Given the description of an element on the screen output the (x, y) to click on. 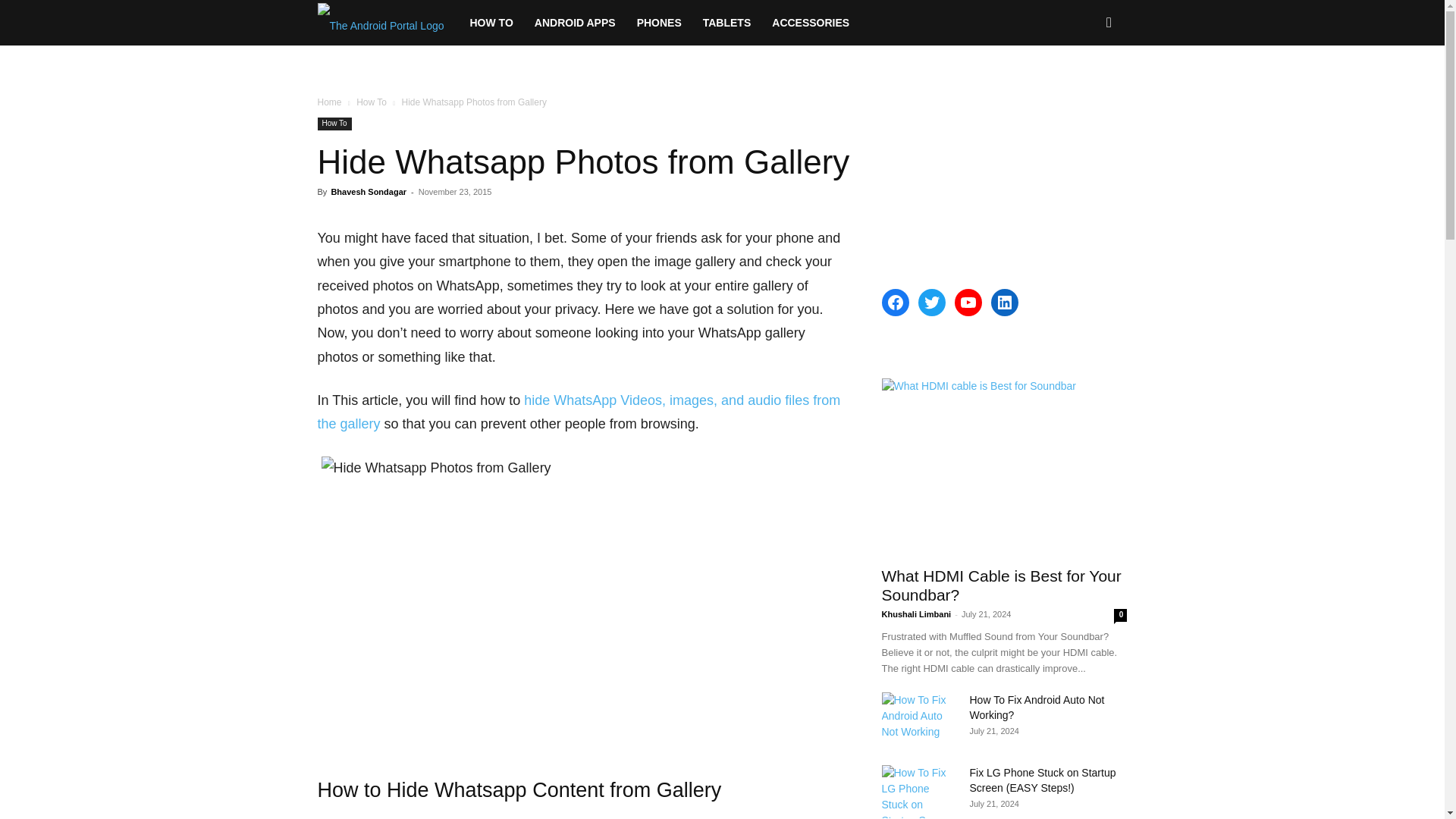
ACCESSORIES (810, 22)
Theandroidportal Logo (380, 22)
PHONES (659, 22)
TABLETS (727, 22)
ANDROID APPS (575, 22)
View all posts in How To (371, 102)
HOW TO (492, 22)
TheAndroidPortal (387, 22)
